Given the description of an element on the screen output the (x, y) to click on. 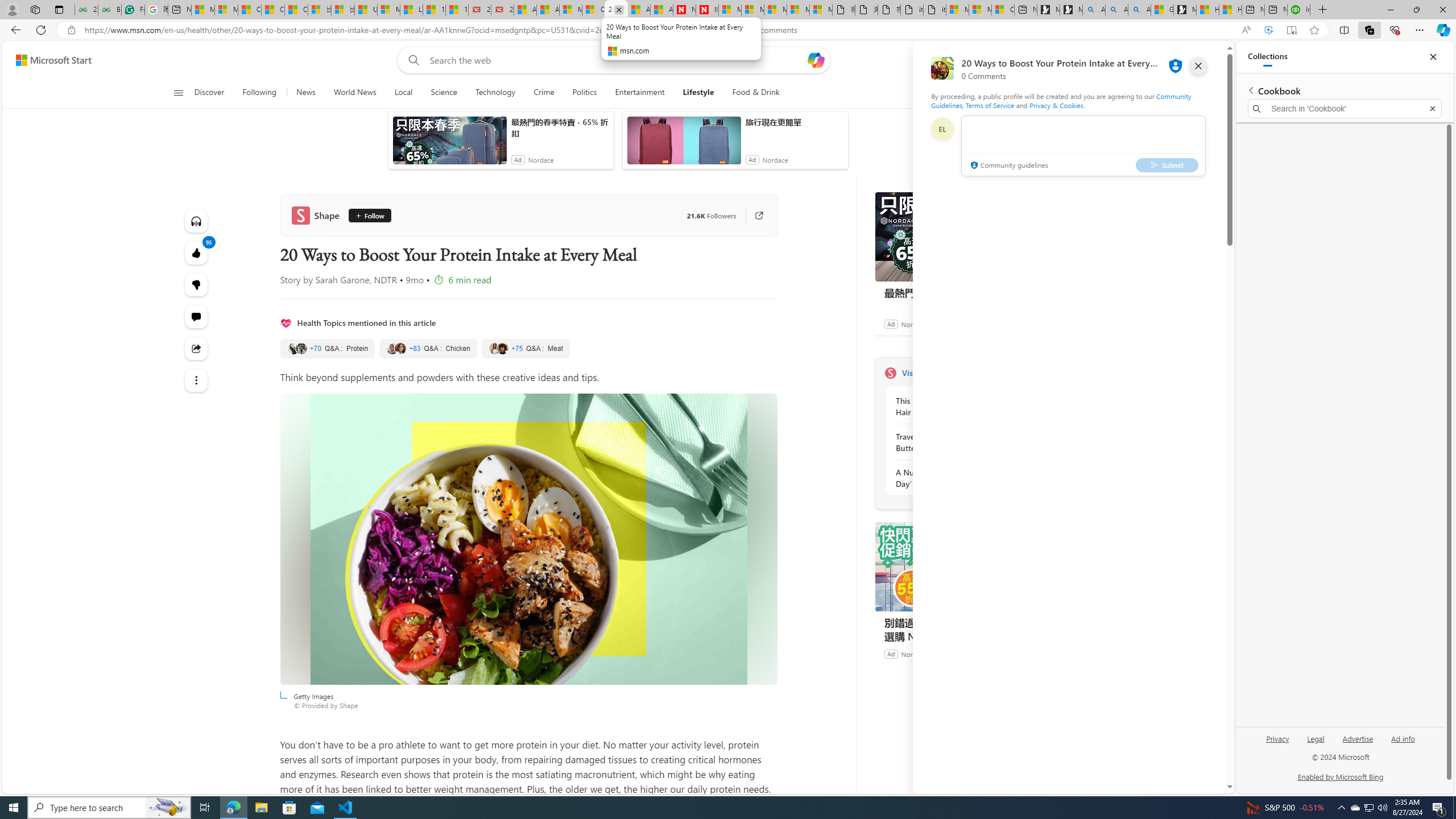
Protein (326, 348)
Web search (411, 60)
Share this story (196, 348)
Go to publisher's site (752, 215)
Community Guidelines (1060, 100)
Getty Images (528, 538)
Shape (889, 372)
Enter your search term (617, 59)
